Given the description of an element on the screen output the (x, y) to click on. 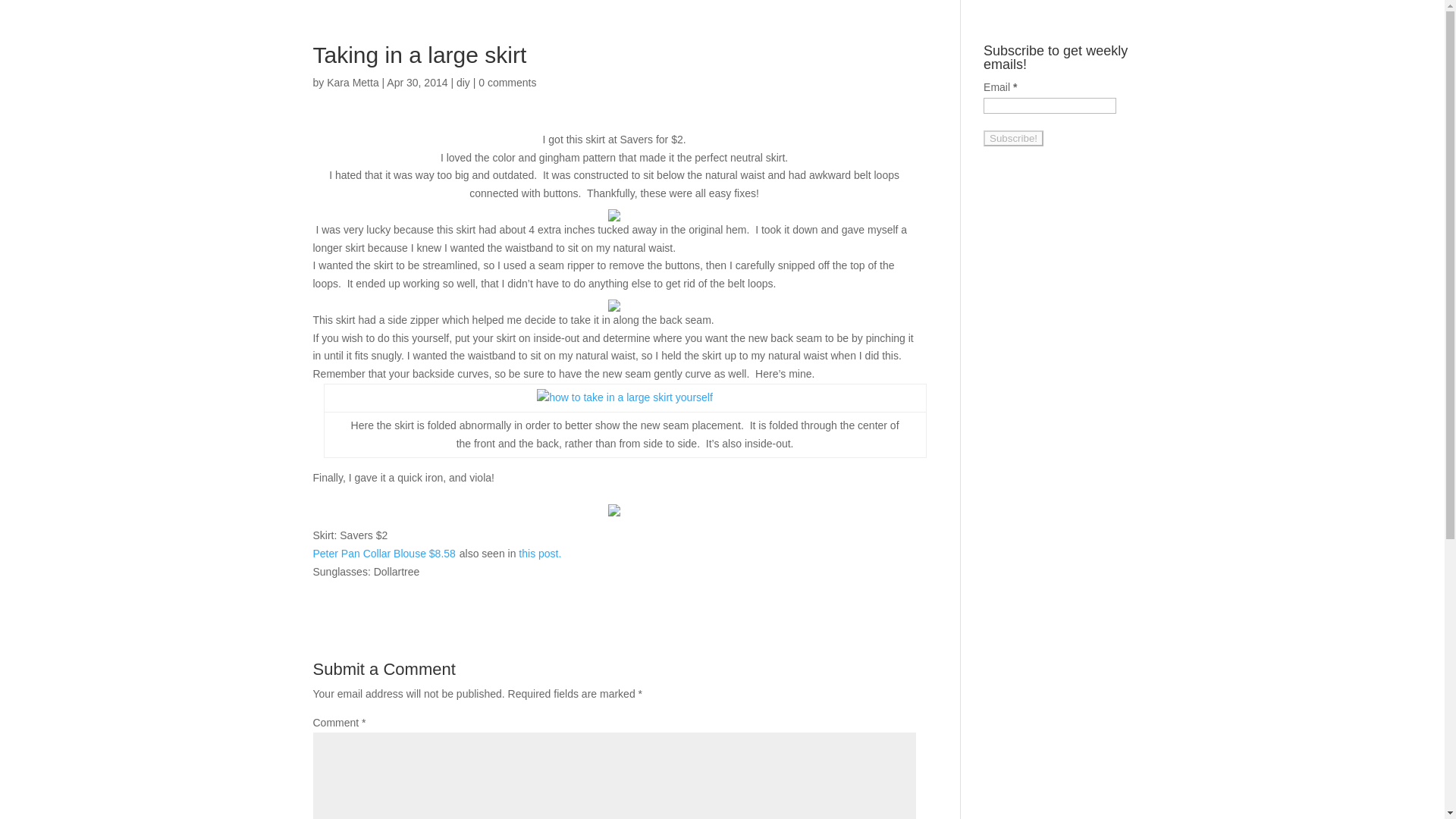
0 comments (507, 82)
Email (1050, 105)
diy (463, 82)
this post. (539, 553)
Posts by Kara Metta (352, 82)
Subscribe! (1013, 138)
Subscribe! (1013, 138)
Kara Metta (352, 82)
